Given the description of an element on the screen output the (x, y) to click on. 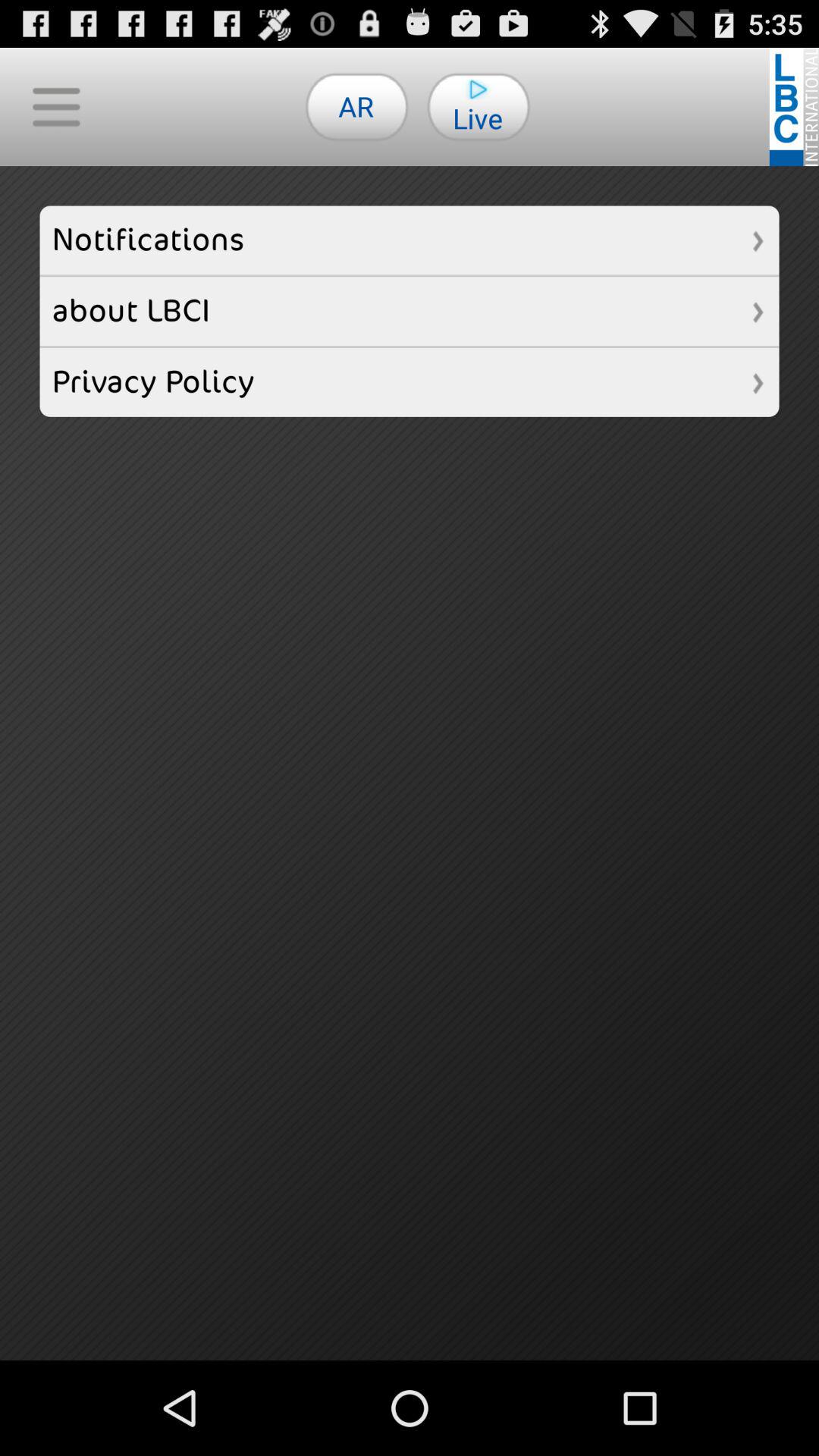
jump to privacy policy icon (409, 382)
